Given the description of an element on the screen output the (x, y) to click on. 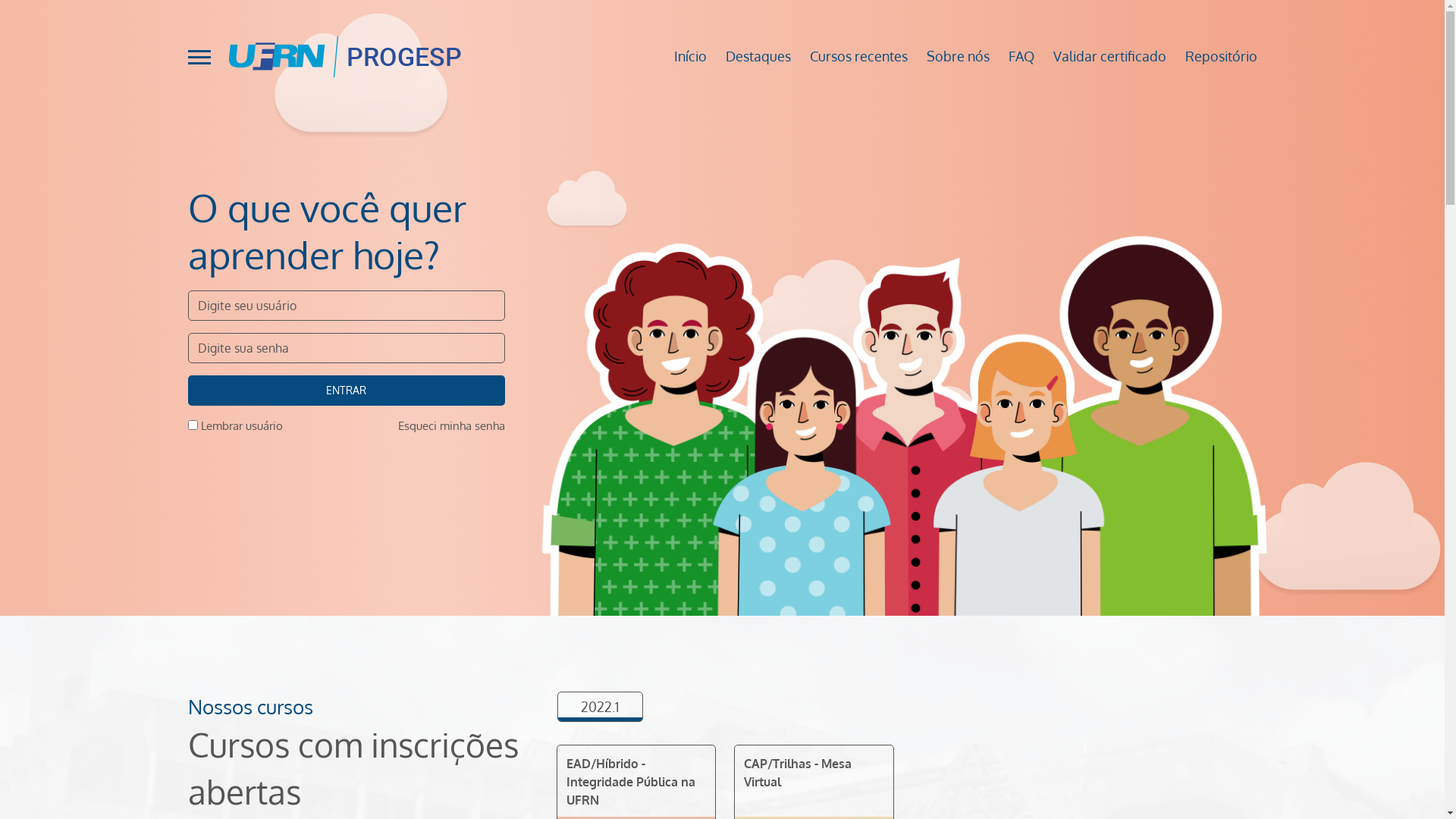
ENTRAR Element type: text (346, 390)
Cursos recentes Element type: text (848, 55)
Destaques Element type: text (748, 55)
Esqueci minha senha Element type: text (450, 426)
2022.1 Element type: text (599, 706)
Validar certificado Element type: text (1100, 55)
CAP/Trilhas - Mesa Virtual Element type: text (797, 772)
FAQ Element type: text (1010, 55)
